Given the description of an element on the screen output the (x, y) to click on. 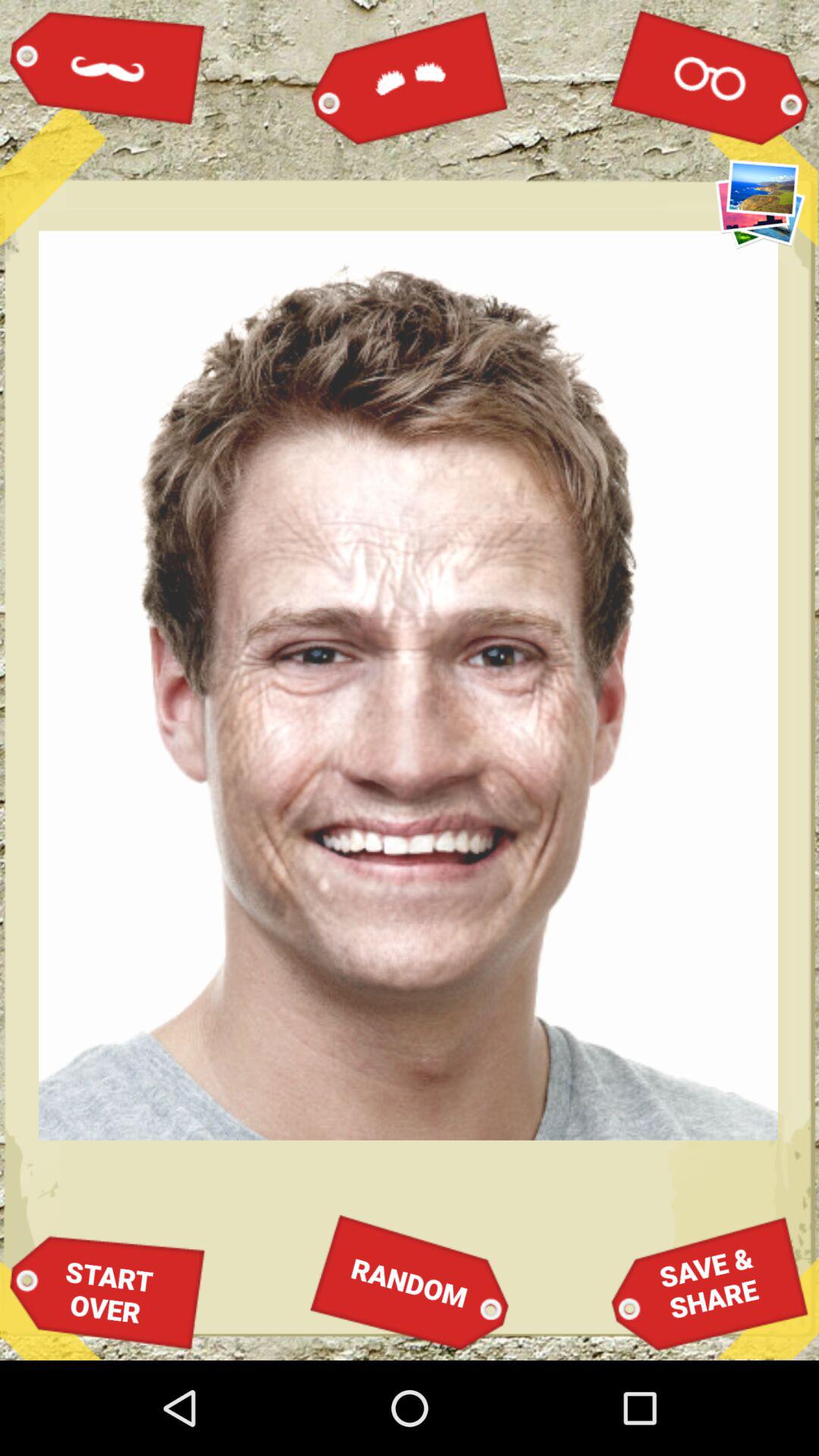
select random (409, 1282)
